Given the description of an element on the screen output the (x, y) to click on. 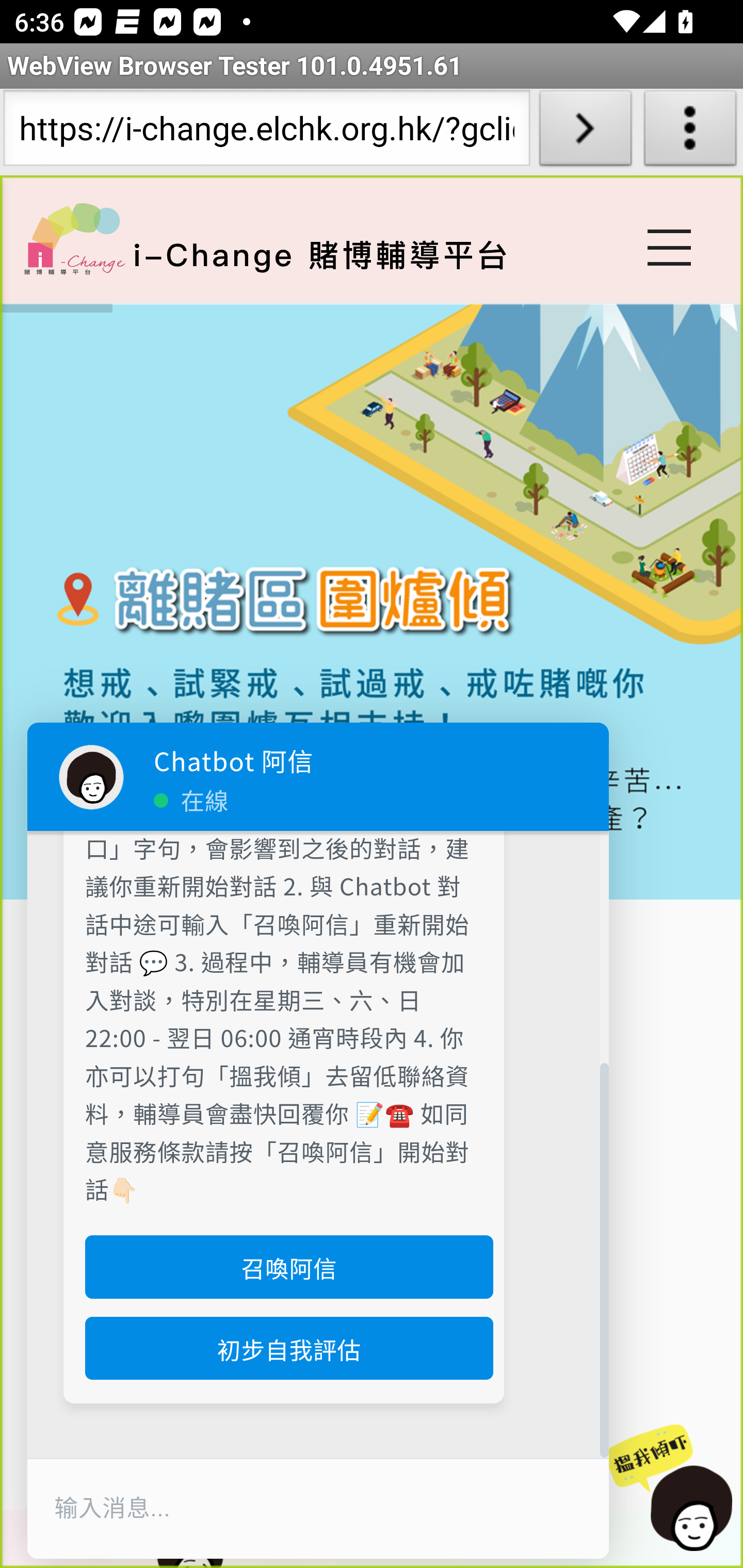
Load URL (585, 132)
About WebView (690, 132)
Home (74, 238)
Chat Now (668, 1488)
